Given the description of an element on the screen output the (x, y) to click on. 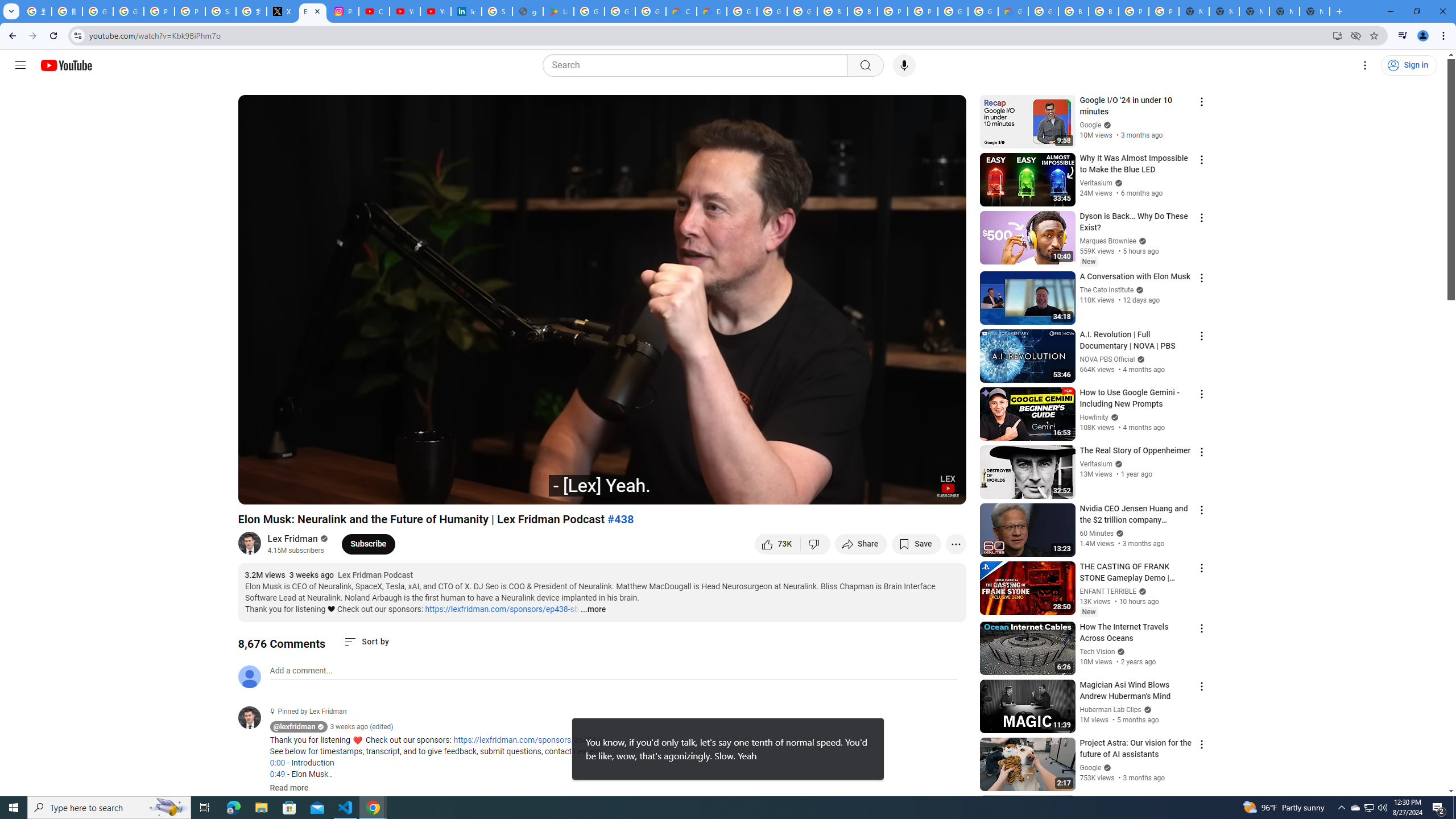
Theater mode (t) (917, 490)
Last Shelter: Survival - Apps on Google Play (558, 11)
Channel watermark (947, 486)
0:00 (277, 763)
AutomationID: simplebox-placeholder (301, 670)
Full screen (f) (945, 490)
Seek slider (601, 476)
Google Workspace - Specific Terms (650, 11)
